Given the description of an element on the screen output the (x, y) to click on. 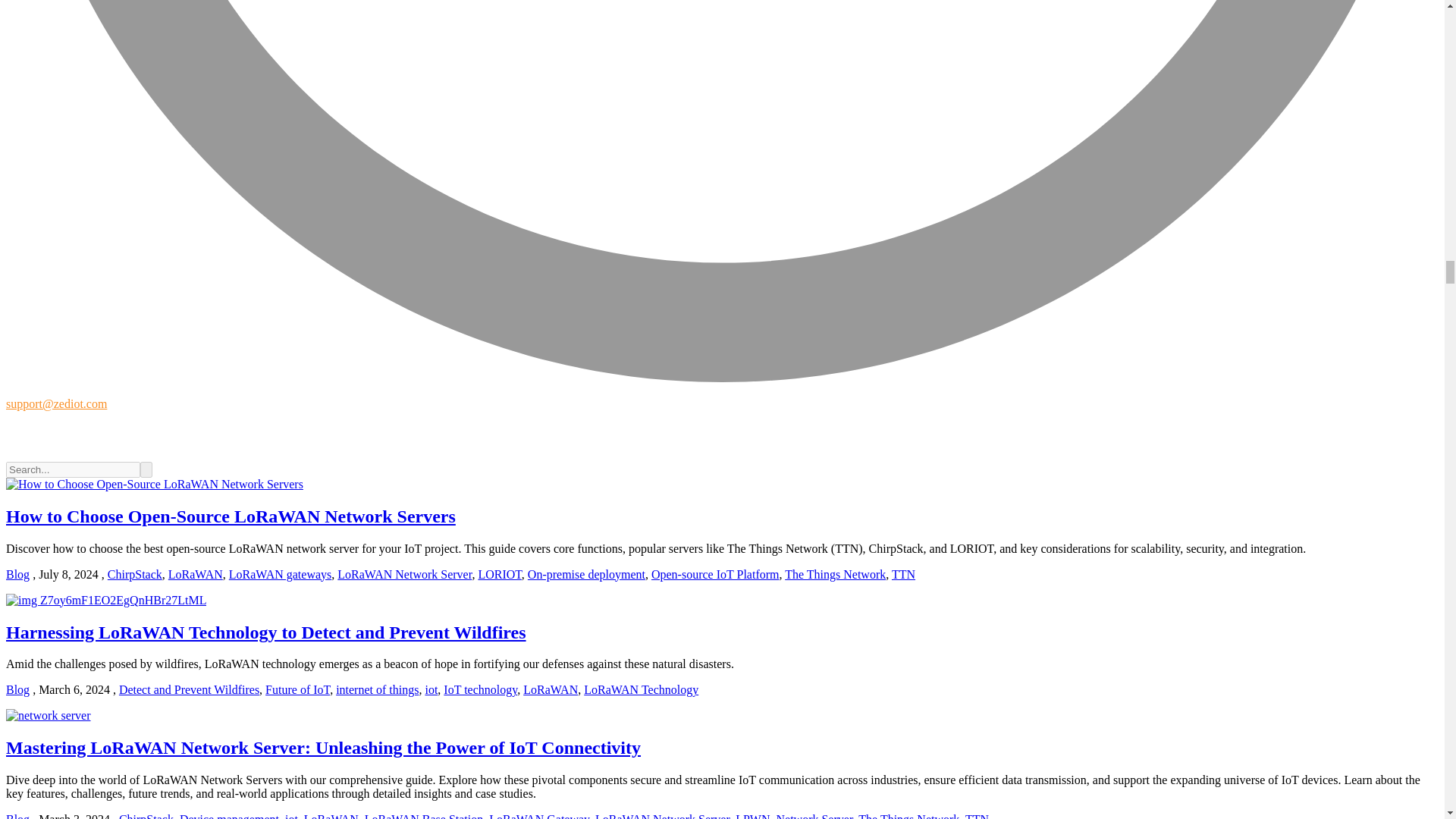
How to Choose Open-Source LoRaWAN Network Servers 3 (153, 484)
How to Choose Open-Source LoRaWAN Network Servers 5 (47, 715)
How to Choose Open-Source LoRaWAN Network Servers 4 (105, 600)
